Given the description of an element on the screen output the (x, y) to click on. 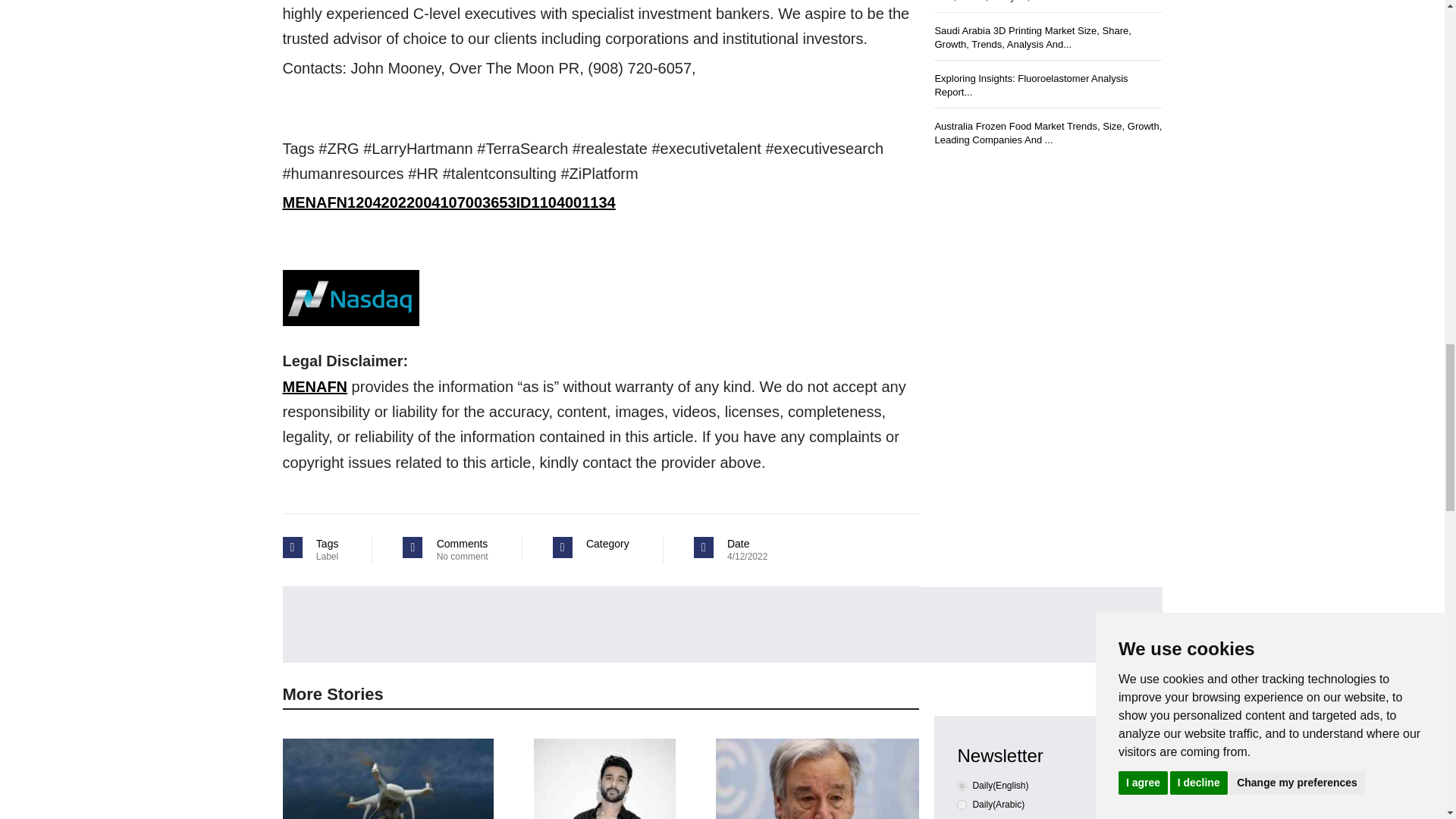
0 (961, 786)
1 (961, 804)
